Given the description of an element on the screen output the (x, y) to click on. 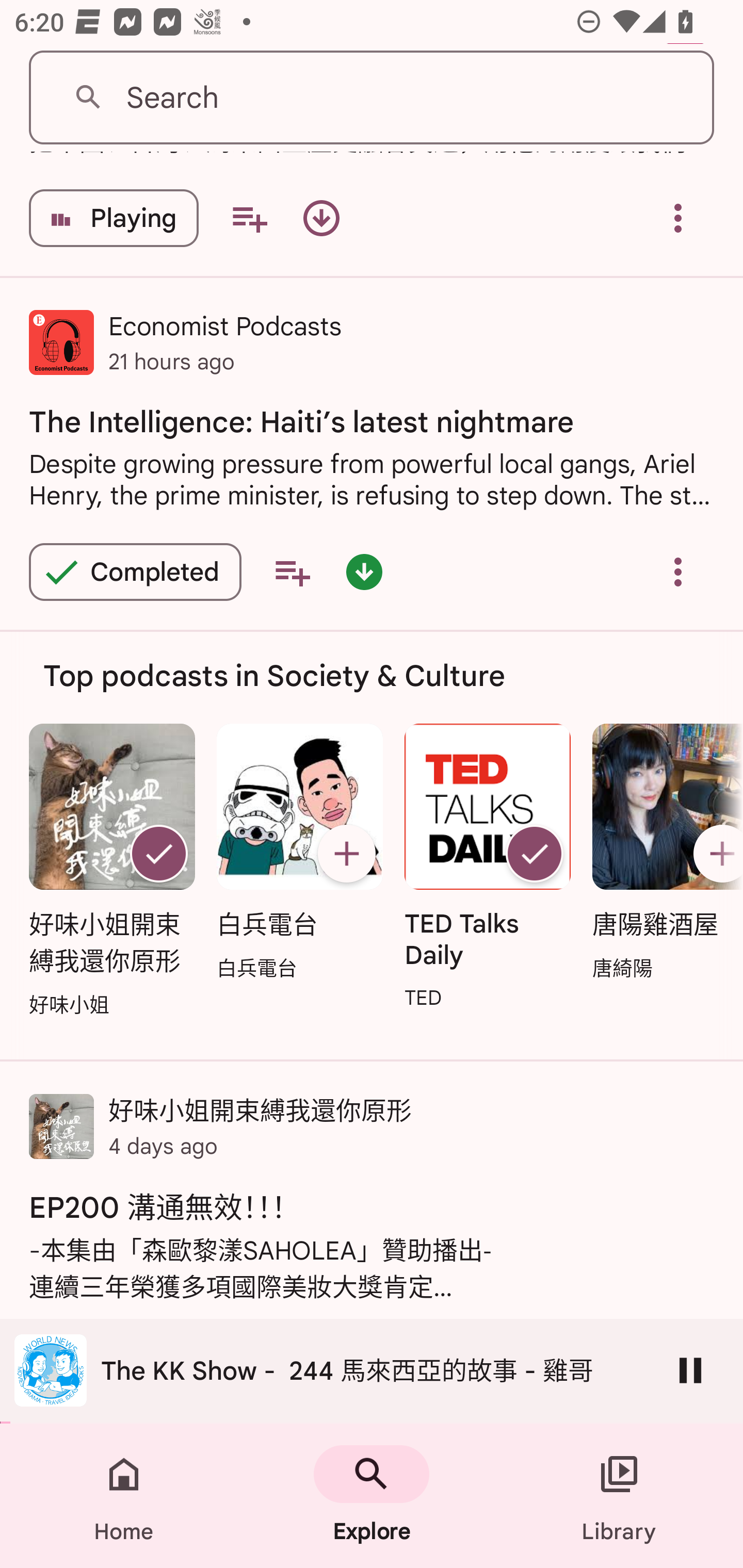
Search (371, 97)
Add to your queue (249, 218)
Download episode (321, 218)
Overflow menu (677, 218)
Add to your queue (291, 571)
Episode downloaded - double tap for options (364, 571)
Overflow menu (677, 571)
好味小姐開束縛我還你原形 Unsubscribe 好味小姐開束縛我還你原形 好味小姐 (111, 871)
白兵電台 Subscribe 白兵電台 白兵電台 (299, 853)
TED Talks Daily Unsubscribe TED Talks Daily TED (487, 868)
唐陽雞酒屋 Subscribe 唐陽雞酒屋 唐綺陽 (662, 853)
Unsubscribe (158, 852)
Subscribe (346, 852)
Unsubscribe (534, 852)
Subscribe (714, 852)
百靈果 News The KK Show -  244 馬來西亞的故事 - 雞哥 Pause 7.0 (371, 1370)
Pause (690, 1370)
Home (123, 1495)
Library (619, 1495)
